Given the description of an element on the screen output the (x, y) to click on. 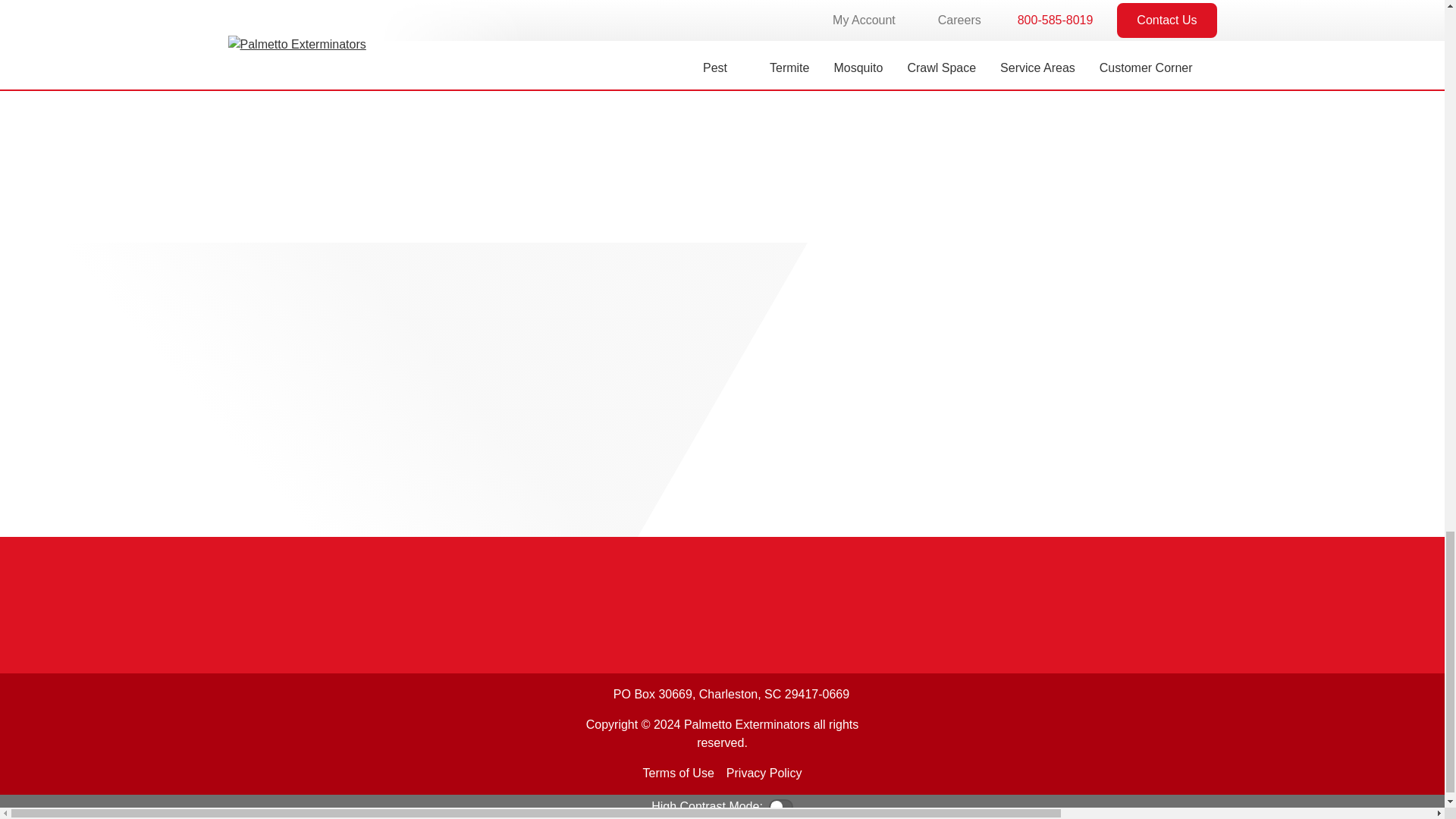
YouTube (283, 733)
Instagram (359, 733)
Facebook (245, 733)
Facebook (245, 733)
YouTube (283, 733)
LinkedIn (321, 733)
